Given the description of an element on the screen output the (x, y) to click on. 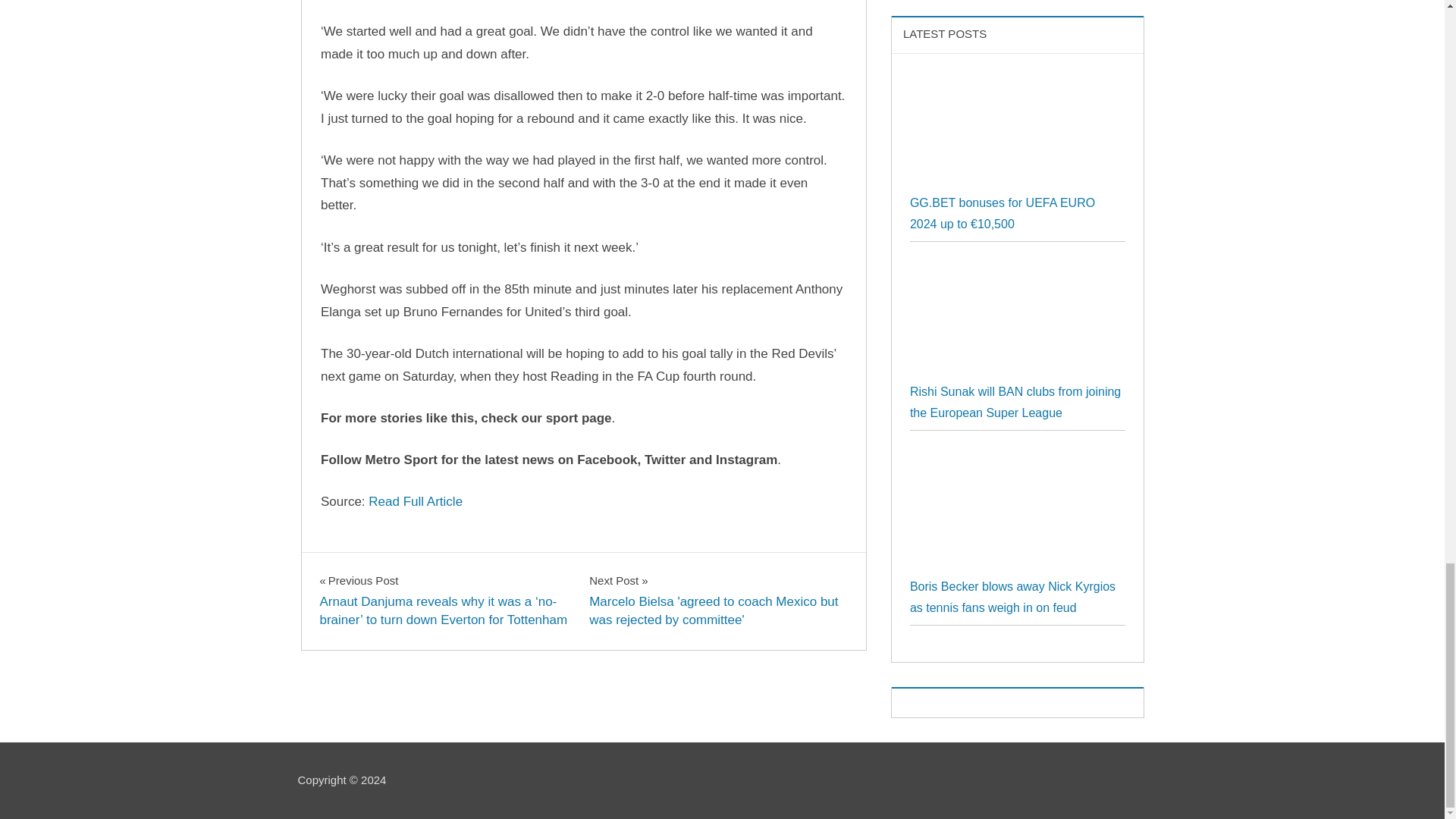
SOCCER (351, 567)
Read Full Article (415, 501)
